Given the description of an element on the screen output the (x, y) to click on. 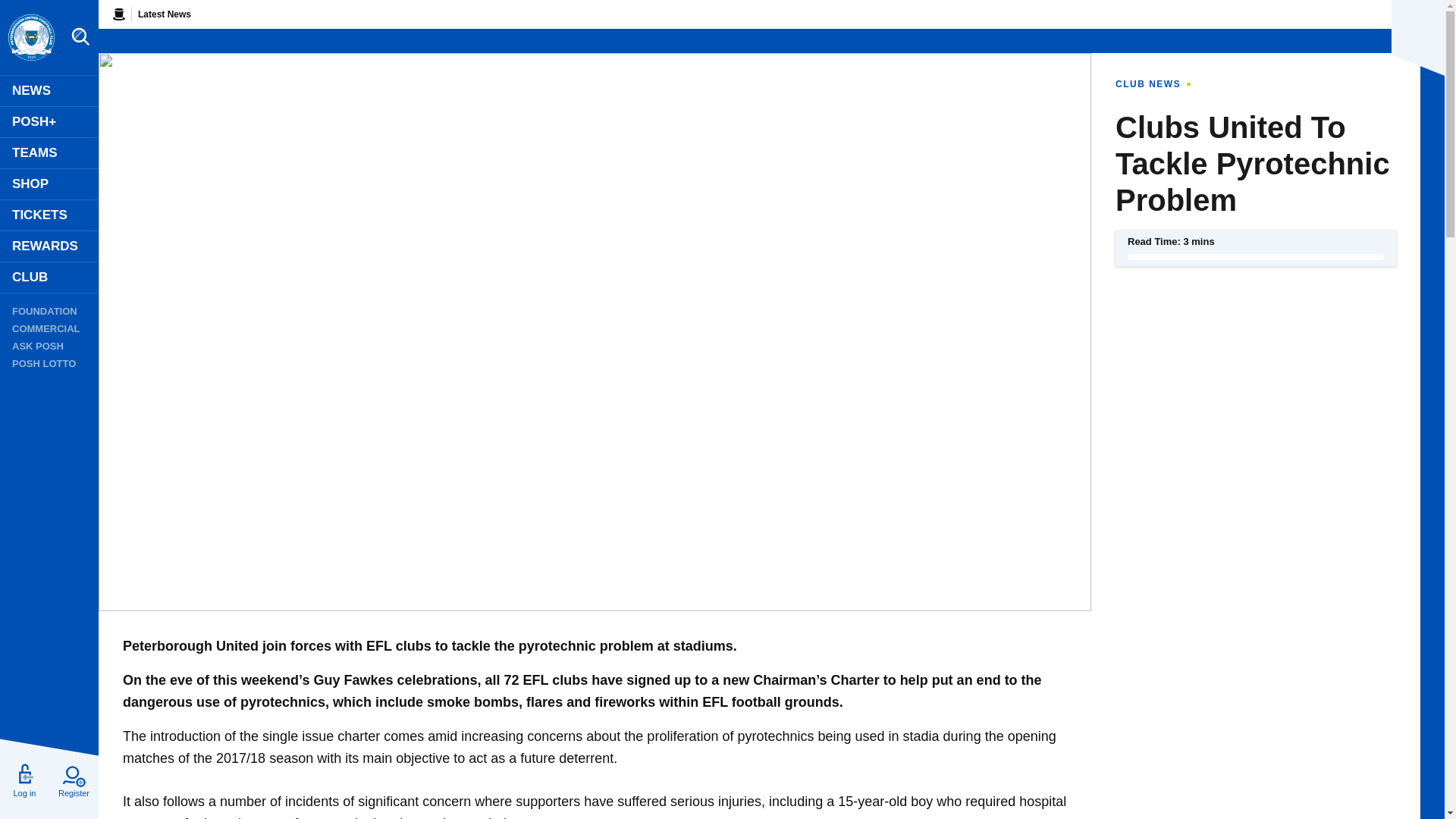
Link to Peterborough United homepage (31, 37)
Apply (365, 533)
TEAMS (49, 153)
NEWS (49, 91)
News (49, 91)
